Given the description of an element on the screen output the (x, y) to click on. 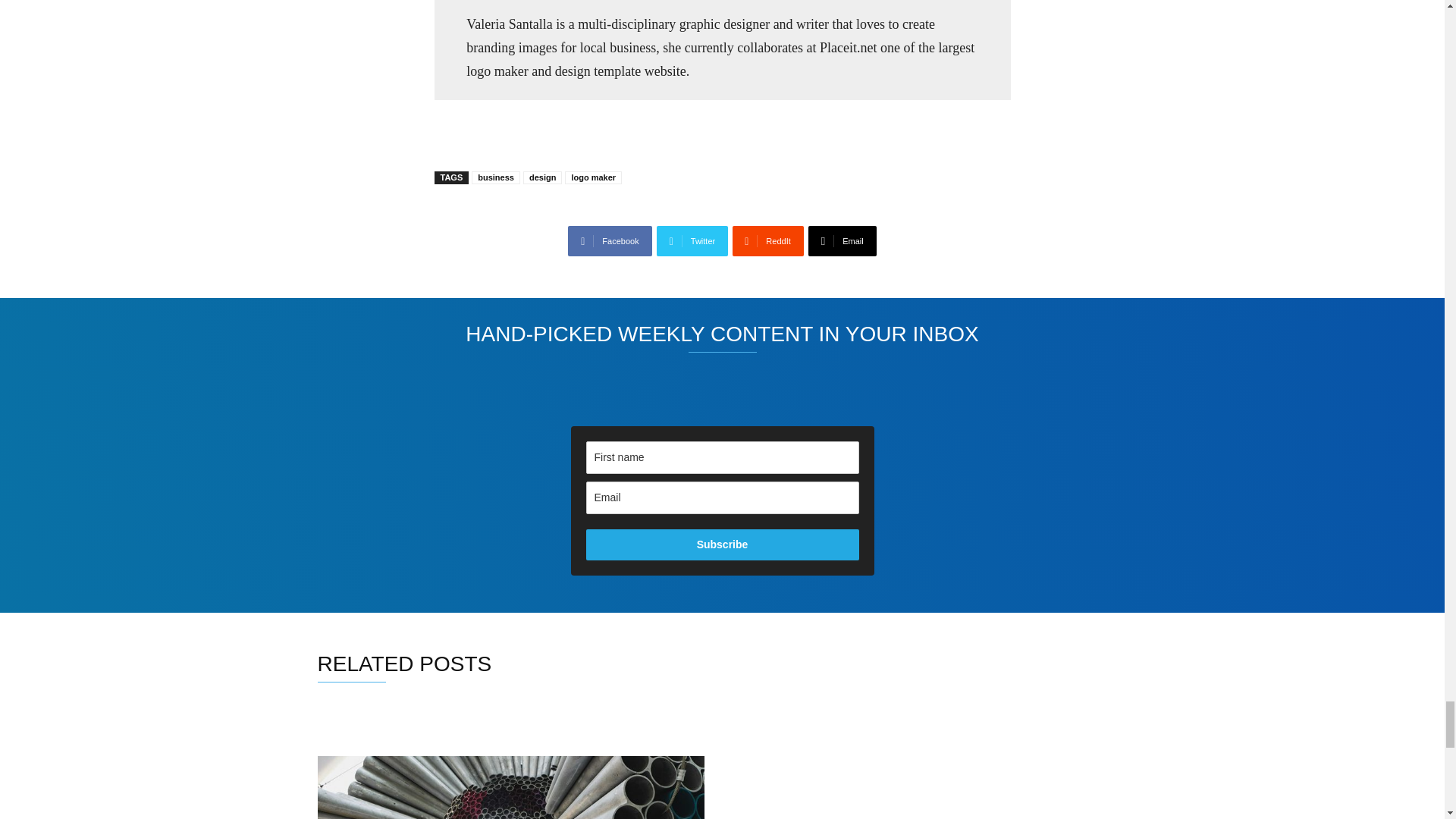
Facebook (608, 241)
Email (842, 241)
Twitter (692, 241)
ReddIt (767, 241)
